Given the description of an element on the screen output the (x, y) to click on. 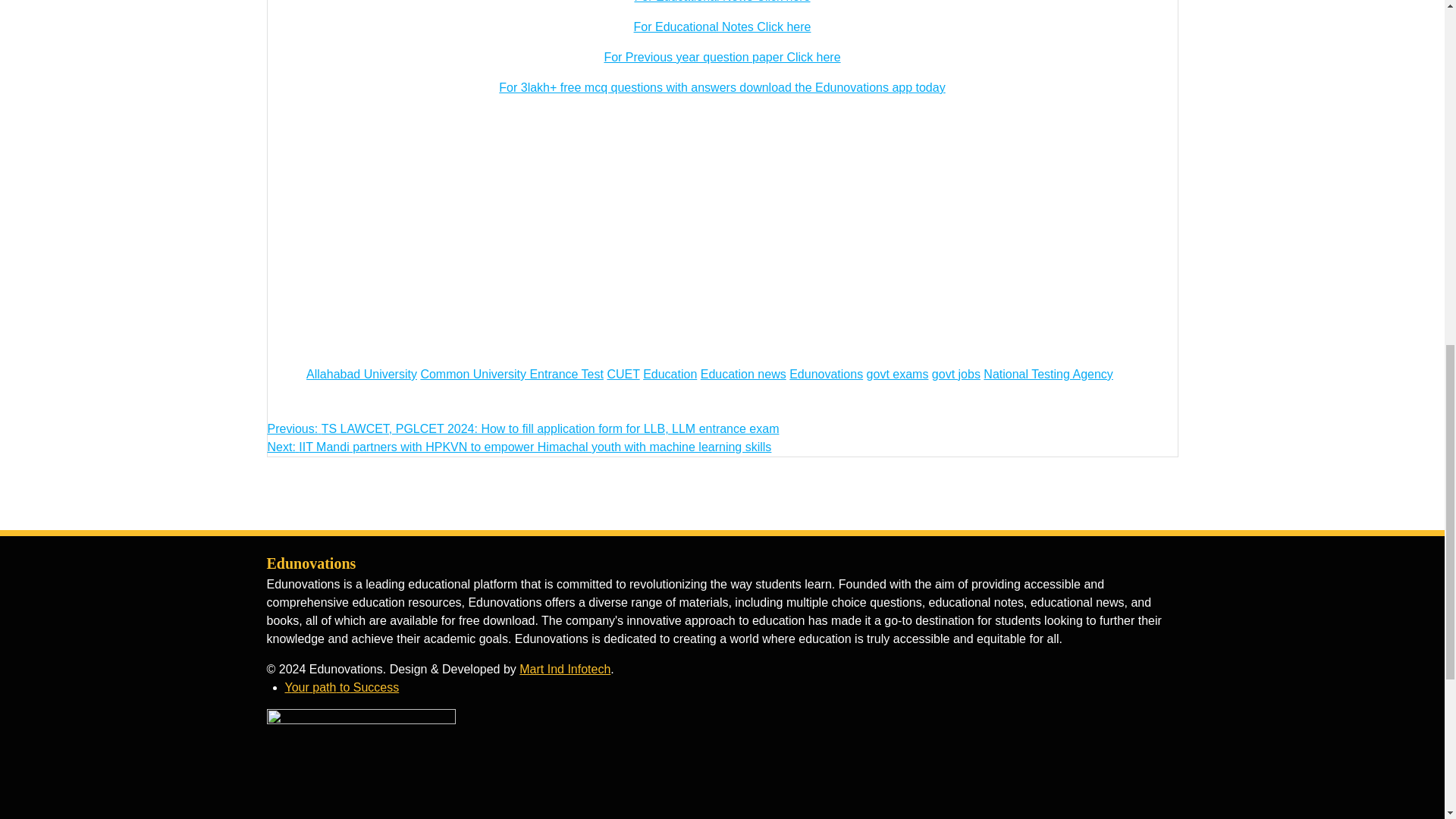
govt jobs (955, 373)
National Testing Agency (1048, 373)
Common University Entrance Test (512, 373)
For Educational Notes Click here (721, 26)
CUET (623, 373)
For Previous year question paper Click here (722, 56)
Edunovations (826, 373)
For Educational News Click here (721, 1)
Education (670, 373)
